Given the description of an element on the screen output the (x, y) to click on. 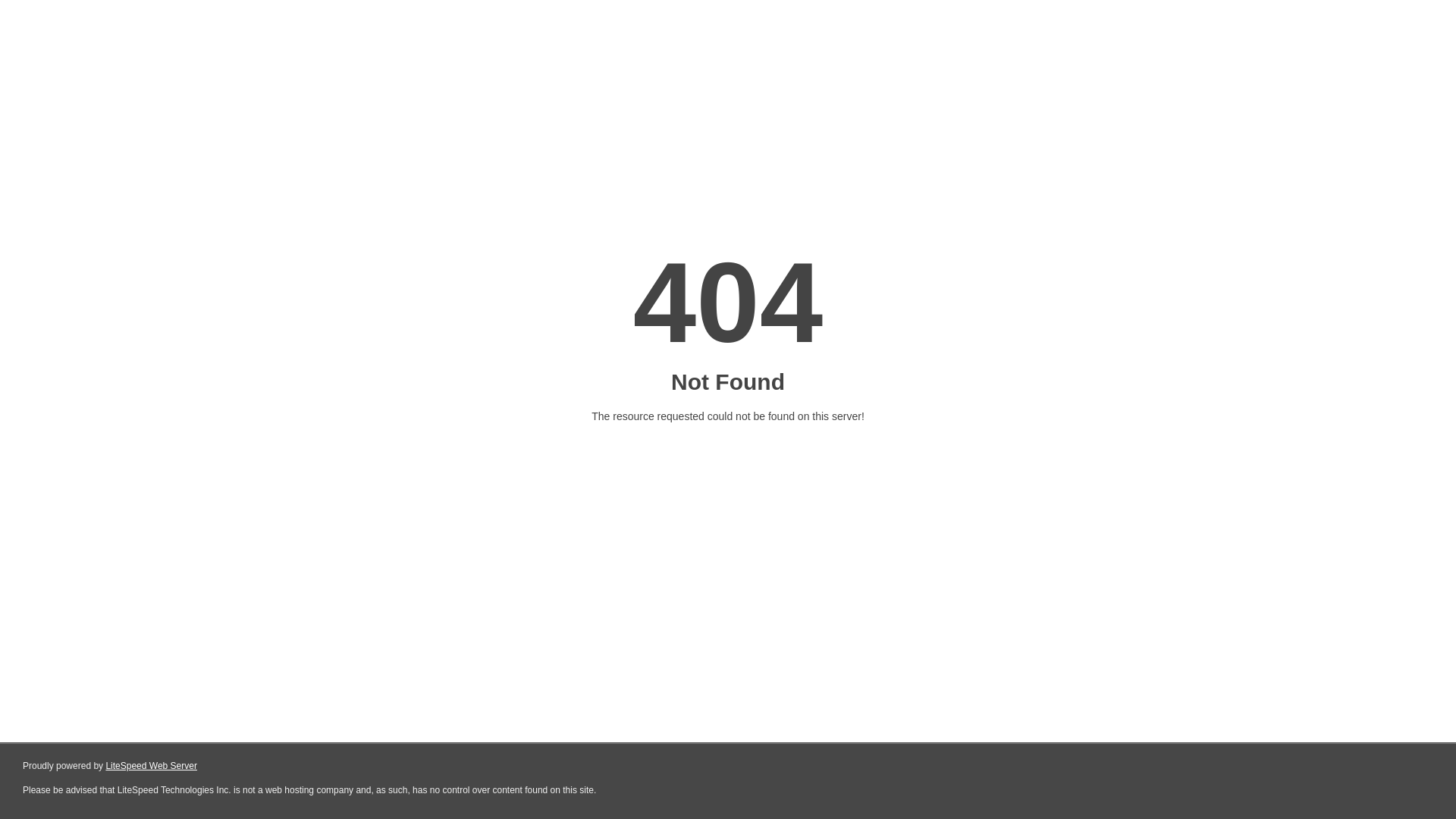
LiteSpeed Web Server Element type: text (151, 765)
